Given the description of an element on the screen output the (x, y) to click on. 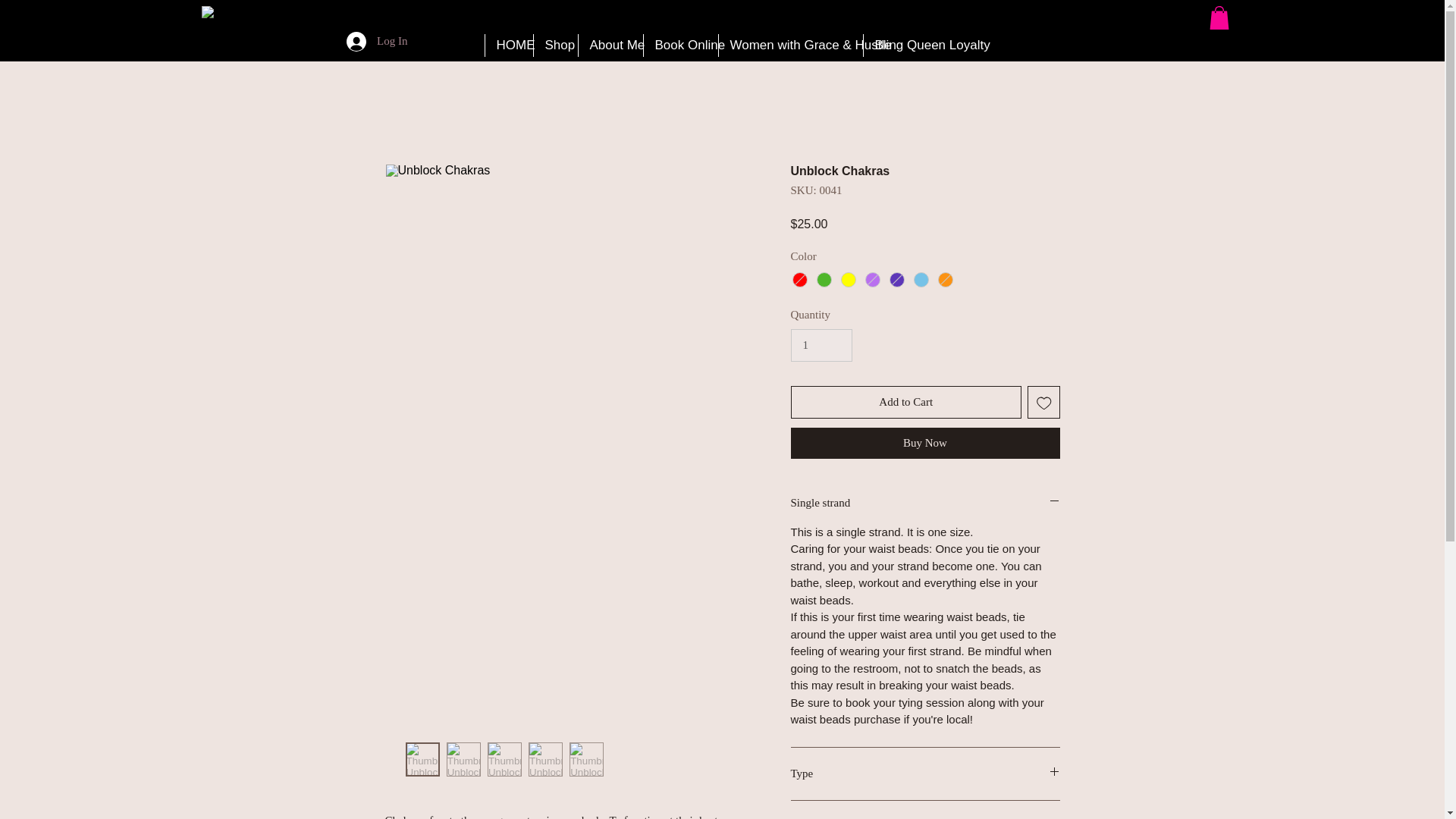
Add to Cart (906, 401)
Bling Queen Loyalty (917, 45)
1 (820, 345)
Buy Now (924, 442)
Book Online (680, 45)
About Me (610, 45)
Single strand (924, 503)
Type (924, 773)
HOME (507, 45)
Log In (376, 41)
